Given the description of an element on the screen output the (x, y) to click on. 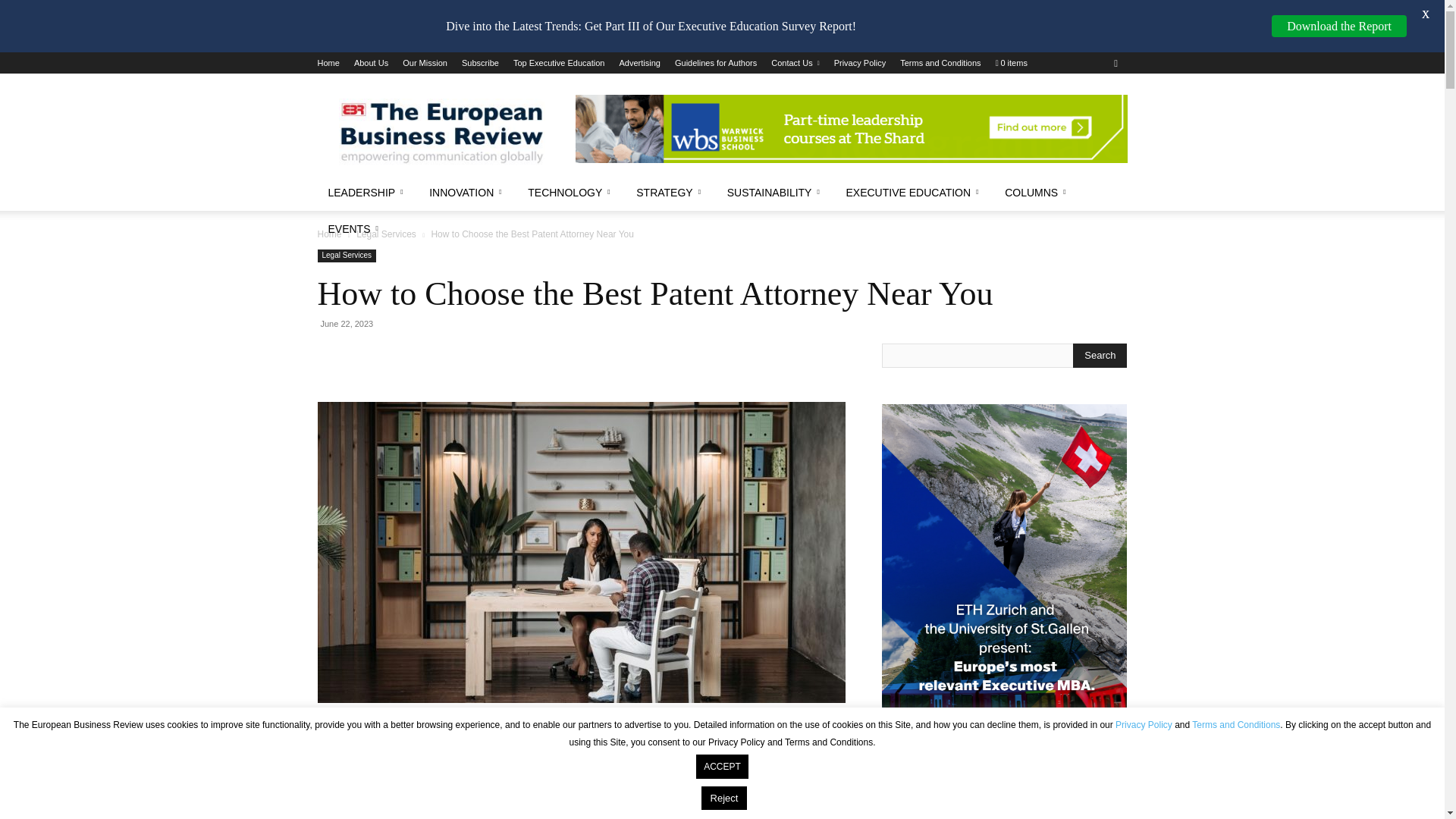
Search (1099, 355)
Start shopping (1011, 62)
View all posts in Legal Services (386, 234)
advertisement (850, 128)
Innovation (467, 192)
